Given the description of an element on the screen output the (x, y) to click on. 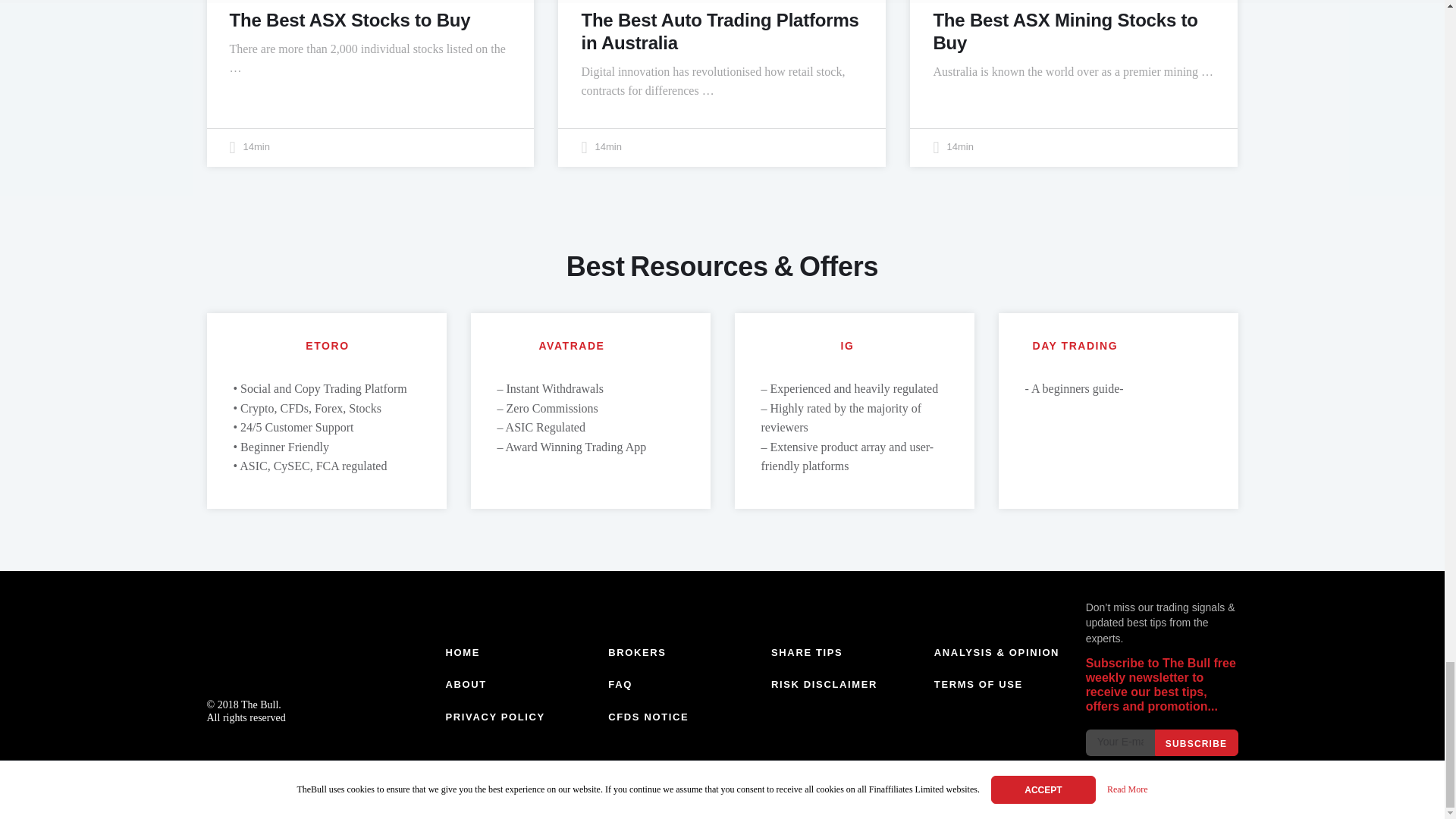
The Best ASX Stocks to Buy (349, 19)
Subscribe (1195, 742)
The Best Auto Trading Platforms in Australia (719, 31)
